Given the description of an element on the screen output the (x, y) to click on. 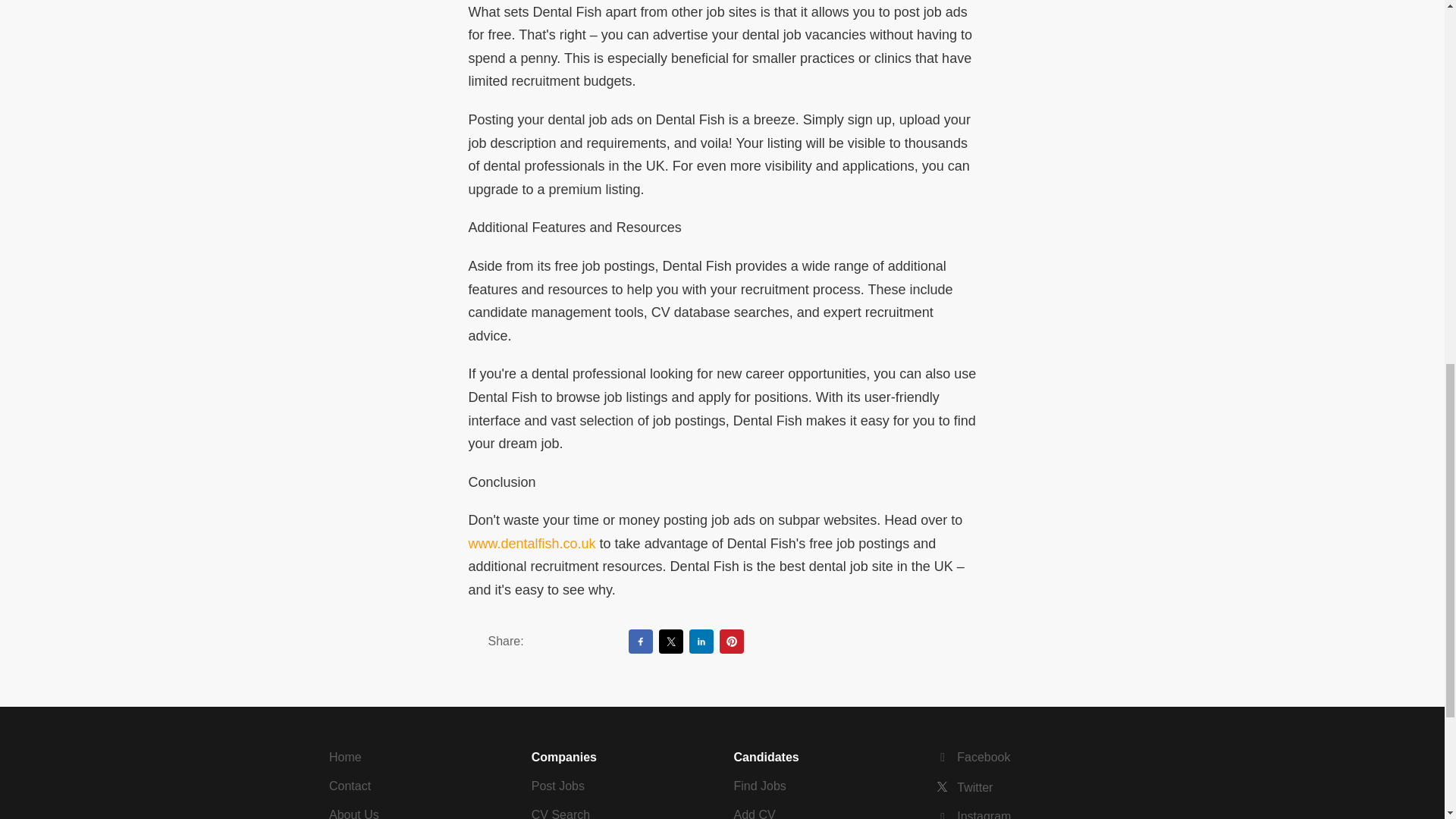
Find Jobs (759, 785)
CV Search (560, 813)
Facebook (973, 757)
Home (345, 757)
Post Jobs (558, 785)
Twitter (964, 787)
Add CV (754, 813)
Instagram (973, 814)
www.dentalfish.co.uk (531, 543)
Contact (350, 785)
